Given the description of an element on the screen output the (x, y) to click on. 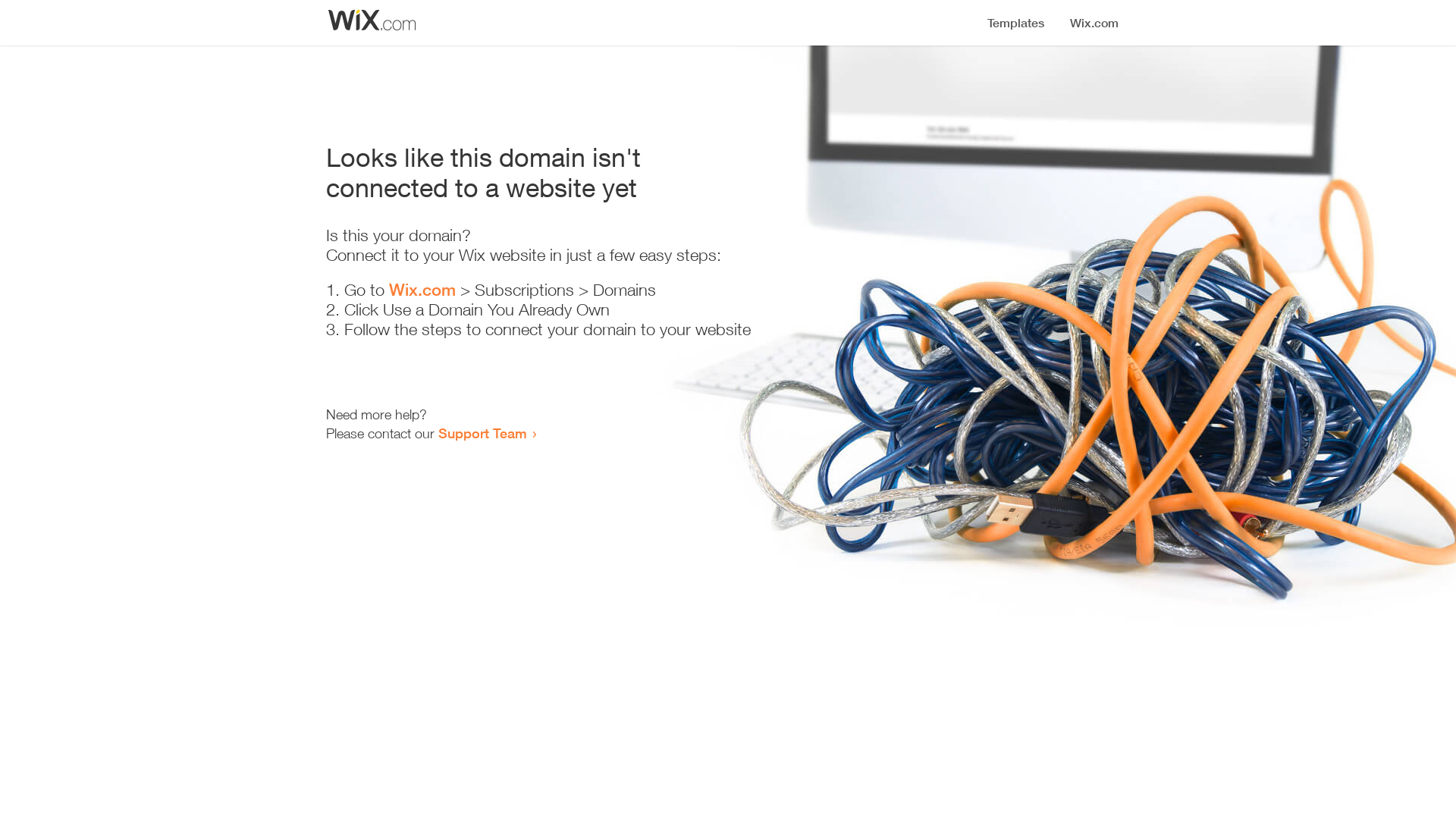
Support Team Element type: text (482, 432)
Wix.com Element type: text (422, 289)
